Given the description of an element on the screen output the (x, y) to click on. 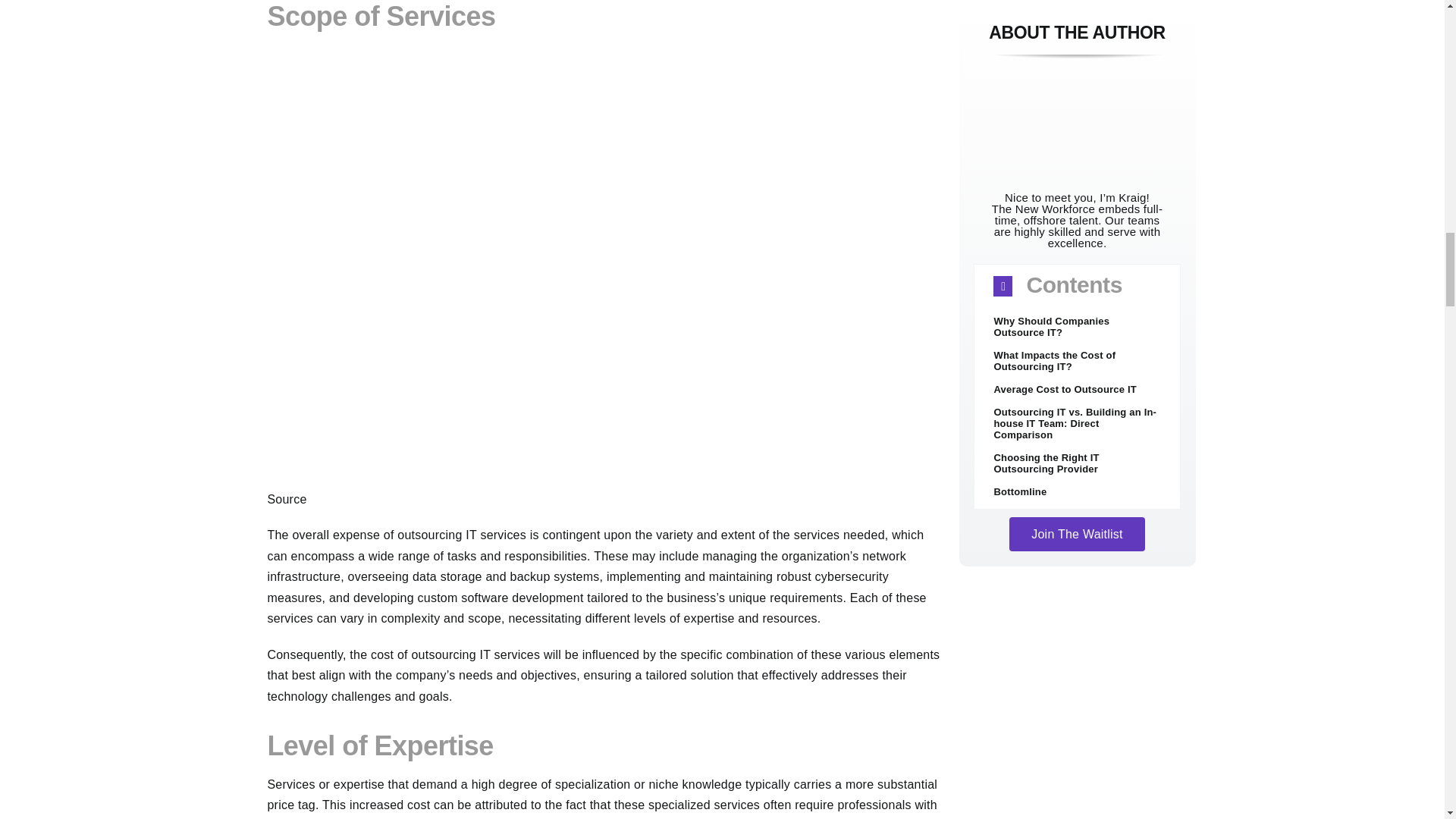
Source (285, 499)
